Given the description of an element on the screen output the (x, y) to click on. 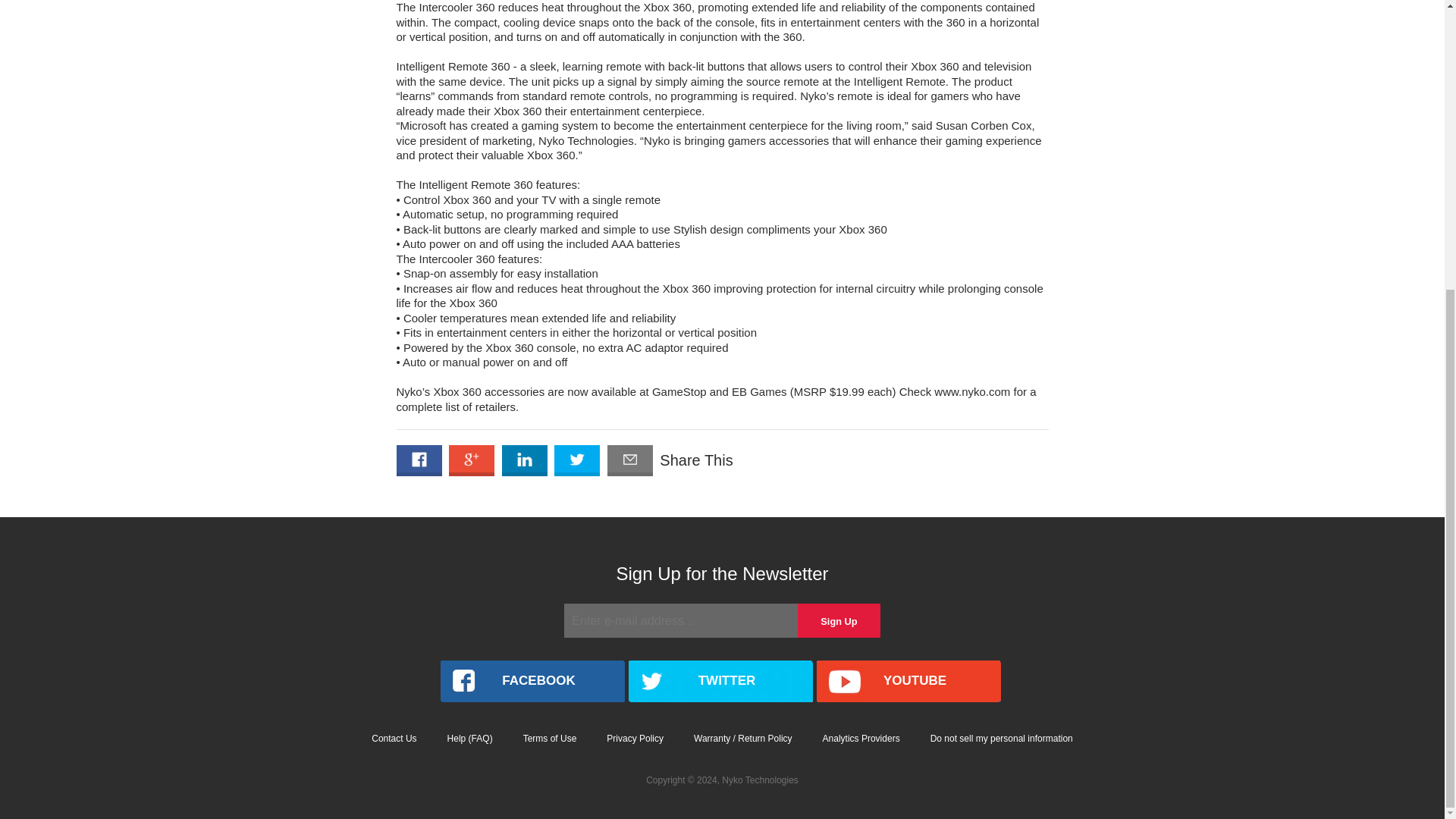
Contact Us (393, 738)
FACEBOOK (531, 680)
TWITTER (719, 680)
Sign Up (838, 620)
YOUTUBE (907, 680)
